Given the description of an element on the screen output the (x, y) to click on. 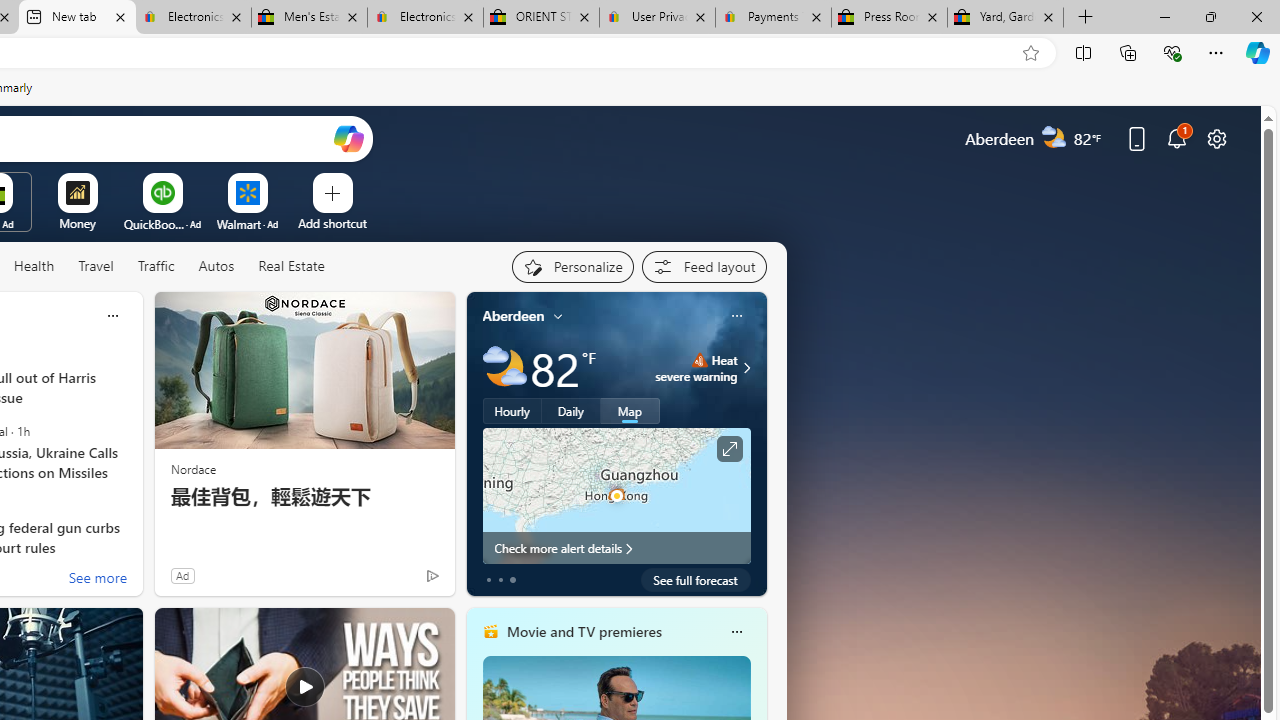
Ad (182, 575)
Aberdeen (513, 315)
Add a site (332, 223)
Check more alert details (616, 547)
Map (630, 411)
Travel (95, 265)
Nordace (193, 468)
Page settings (1216, 138)
Notifications (1176, 138)
Real Estate (290, 267)
Money (77, 223)
